Given the description of an element on the screen output the (x, y) to click on. 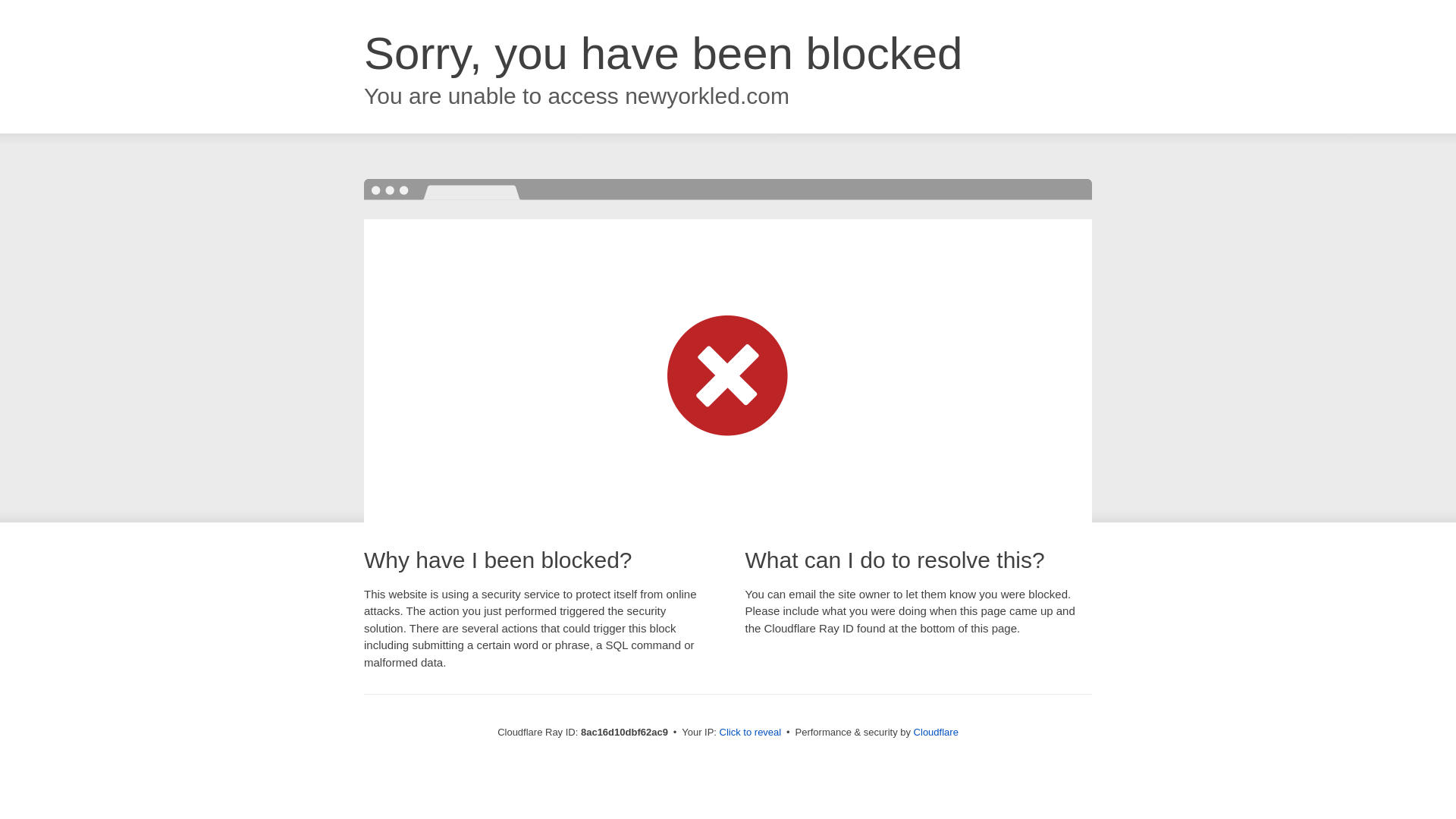
Click to reveal (750, 732)
Cloudflare (936, 731)
